Given the description of an element on the screen output the (x, y) to click on. 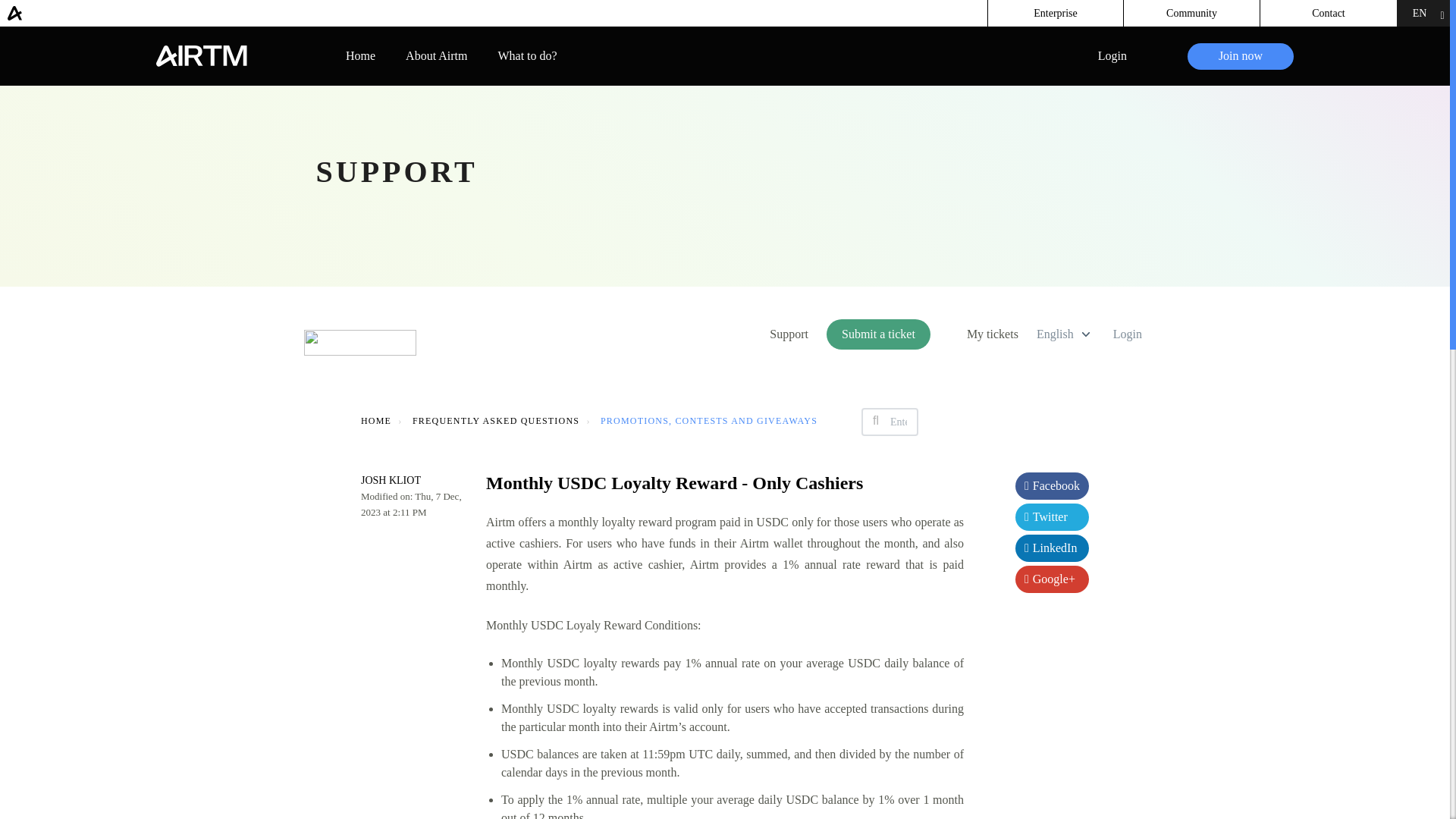
Enterprise (1055, 13)
Login (1111, 55)
HOME (376, 420)
What to do? (526, 55)
Home (360, 55)
Facebook (1051, 485)
Contact (1328, 13)
FREQUENTLY ASKED QUESTIONS (495, 420)
Chat (1412, 779)
Twitter (1051, 516)
FREQUENTLY ASKED QUESTIONS (486, 420)
Promotions, contests and giveaways (699, 420)
About Airtm (436, 55)
Submit a ticket (878, 333)
Solution home (376, 420)
